Given the description of an element on the screen output the (x, y) to click on. 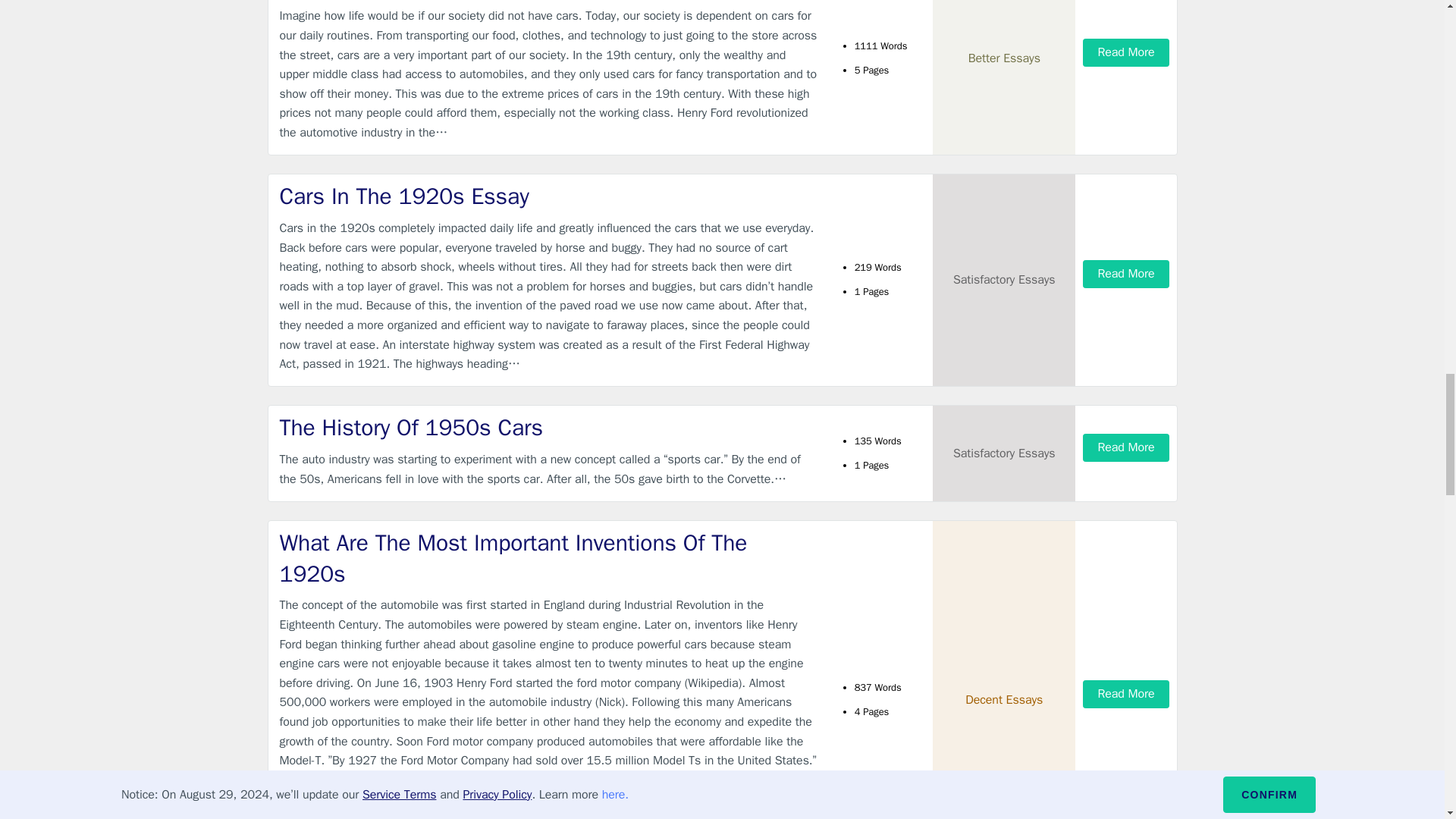
The History Of 1950s Cars (548, 427)
Cars In The 1920s Essay (548, 196)
Read More (1126, 447)
Read More (1126, 52)
Read More (1126, 274)
